Given the description of an element on the screen output the (x, y) to click on. 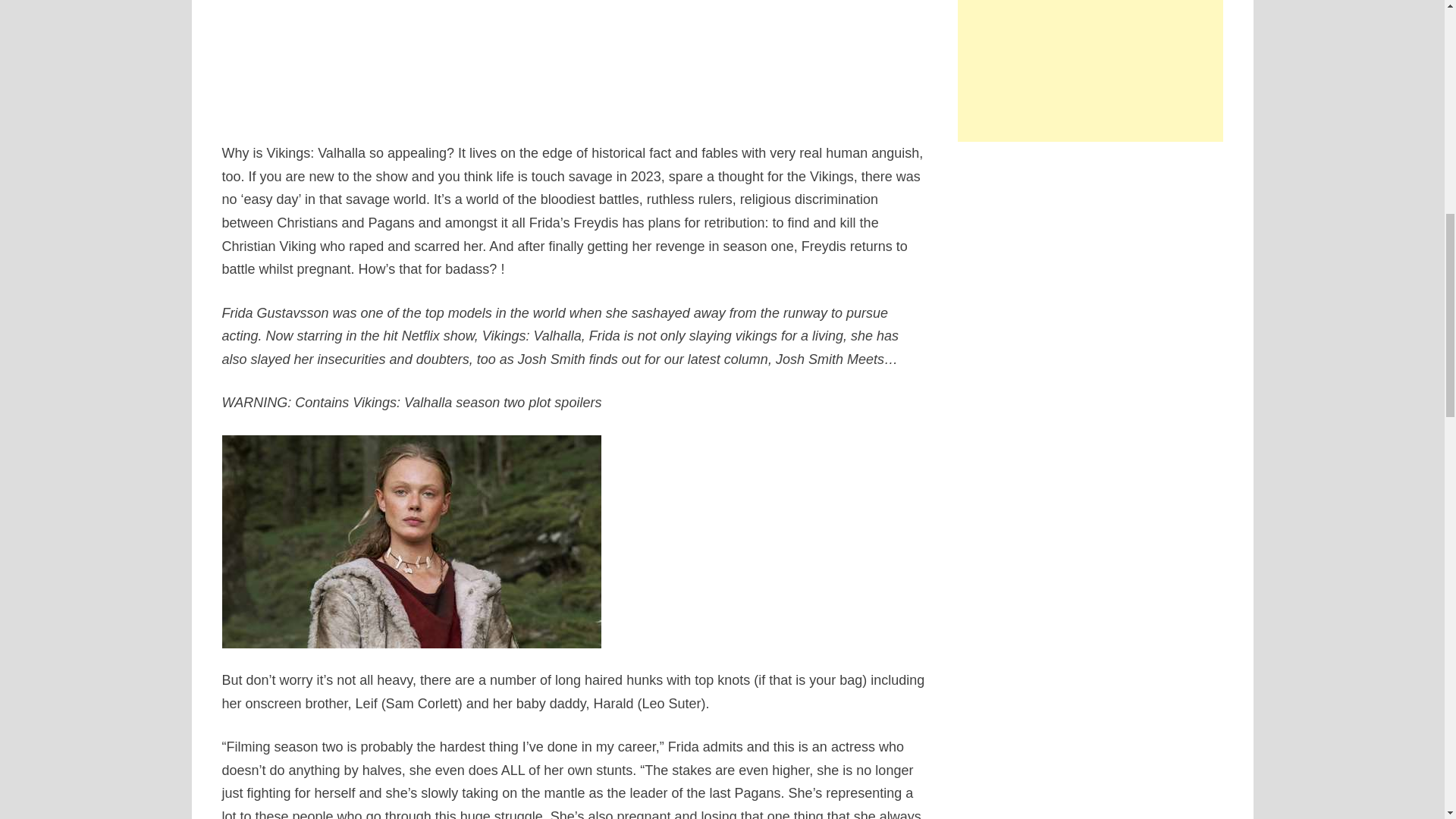
Advertisement (574, 57)
Advertisement (1090, 70)
